Given the description of an element on the screen output the (x, y) to click on. 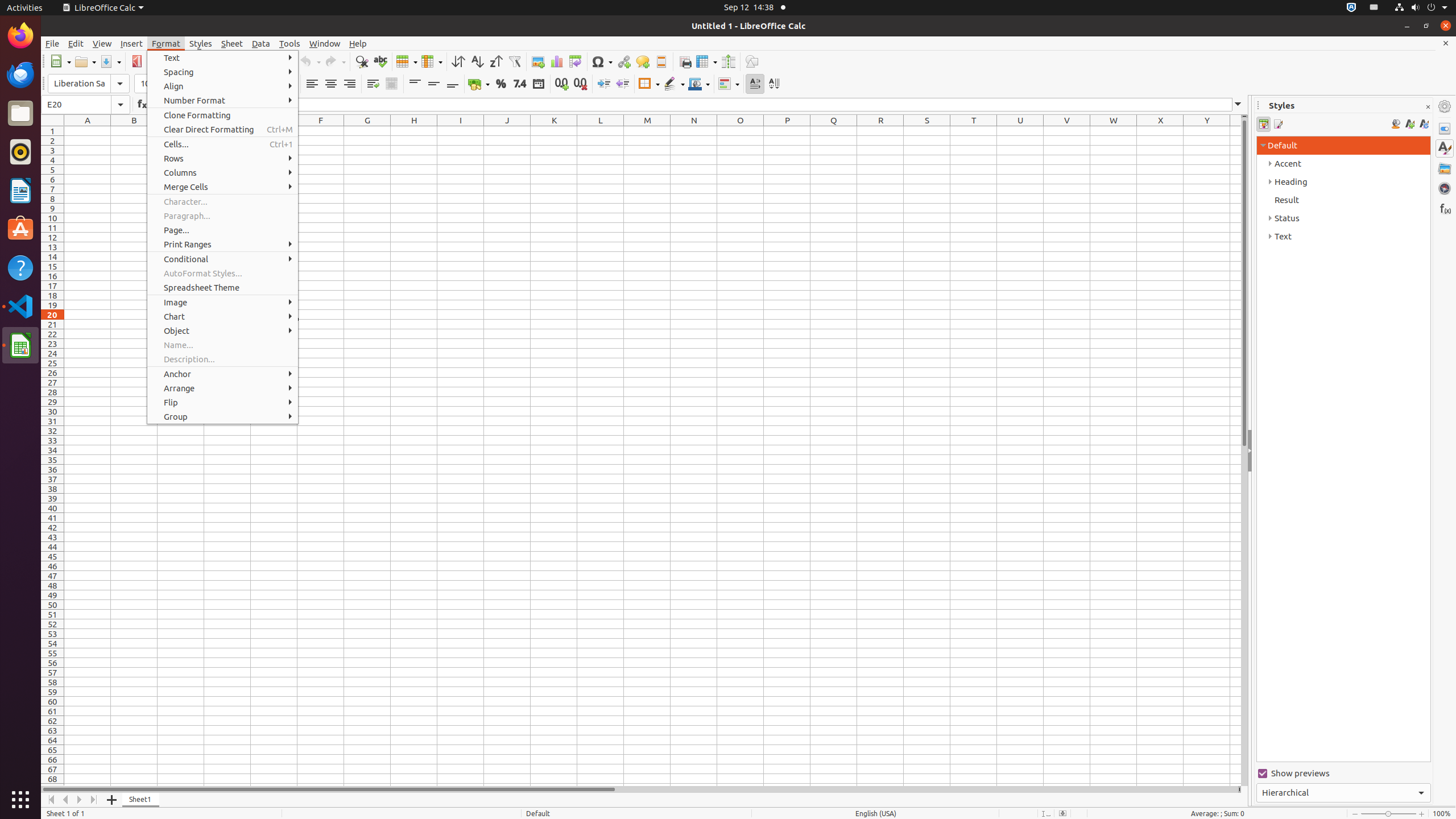
Rhythmbox Element type: push-button (20, 151)
Arrange Element type: menu (222, 388)
Open Element type: push-button (84, 61)
J1 Element type: table-cell (507, 130)
Ubuntu Software Element type: push-button (20, 229)
